Given the description of an element on the screen output the (x, y) to click on. 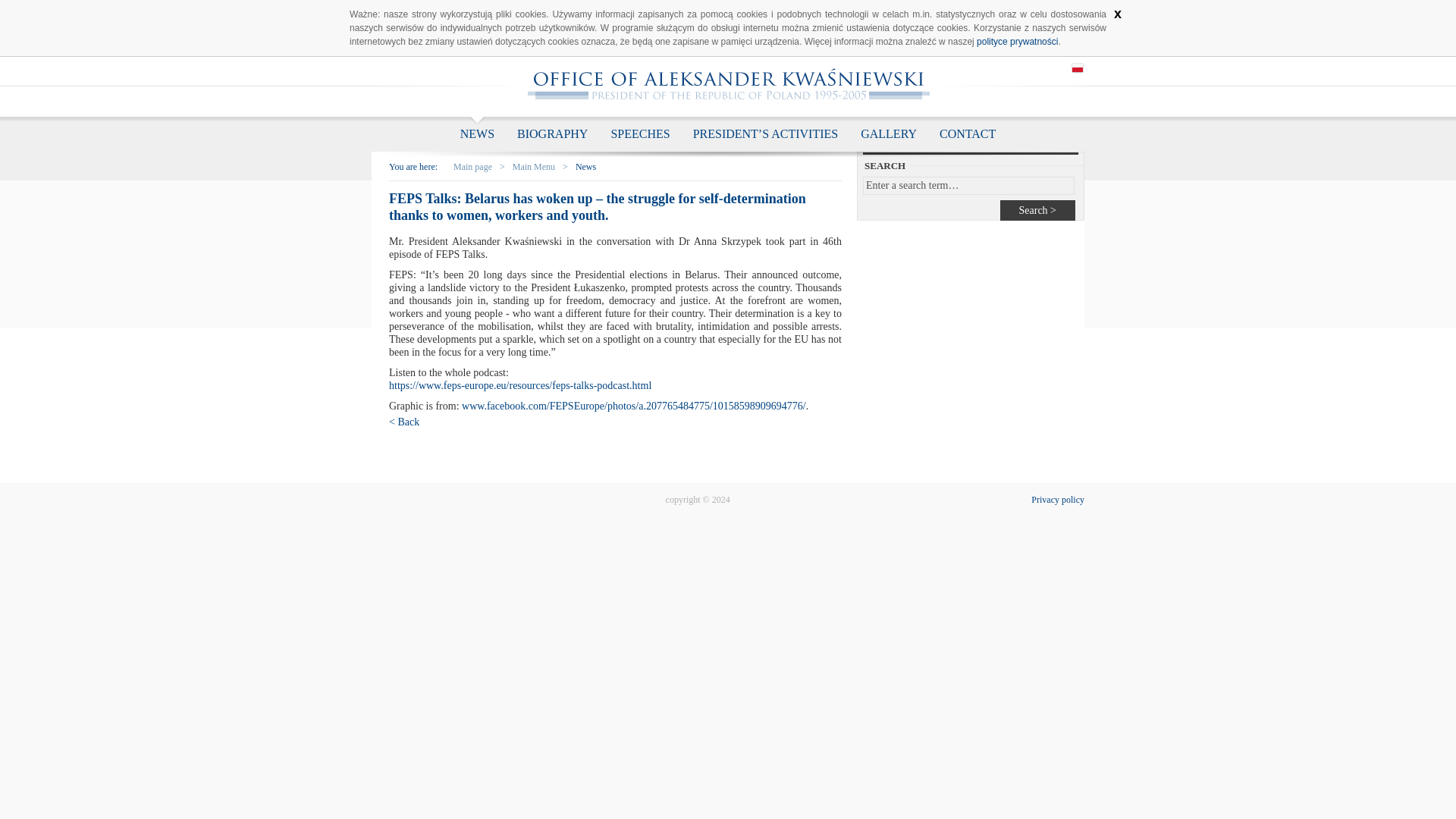
SPEECHES (639, 134)
Main Menu (533, 166)
BIOGRAPHY (551, 134)
NEWS (476, 134)
GALLERY (888, 134)
PL (1077, 68)
Privacy policy (1057, 499)
News (585, 166)
Main page (472, 166)
CONTACT (967, 134)
